Given the description of an element on the screen output the (x, y) to click on. 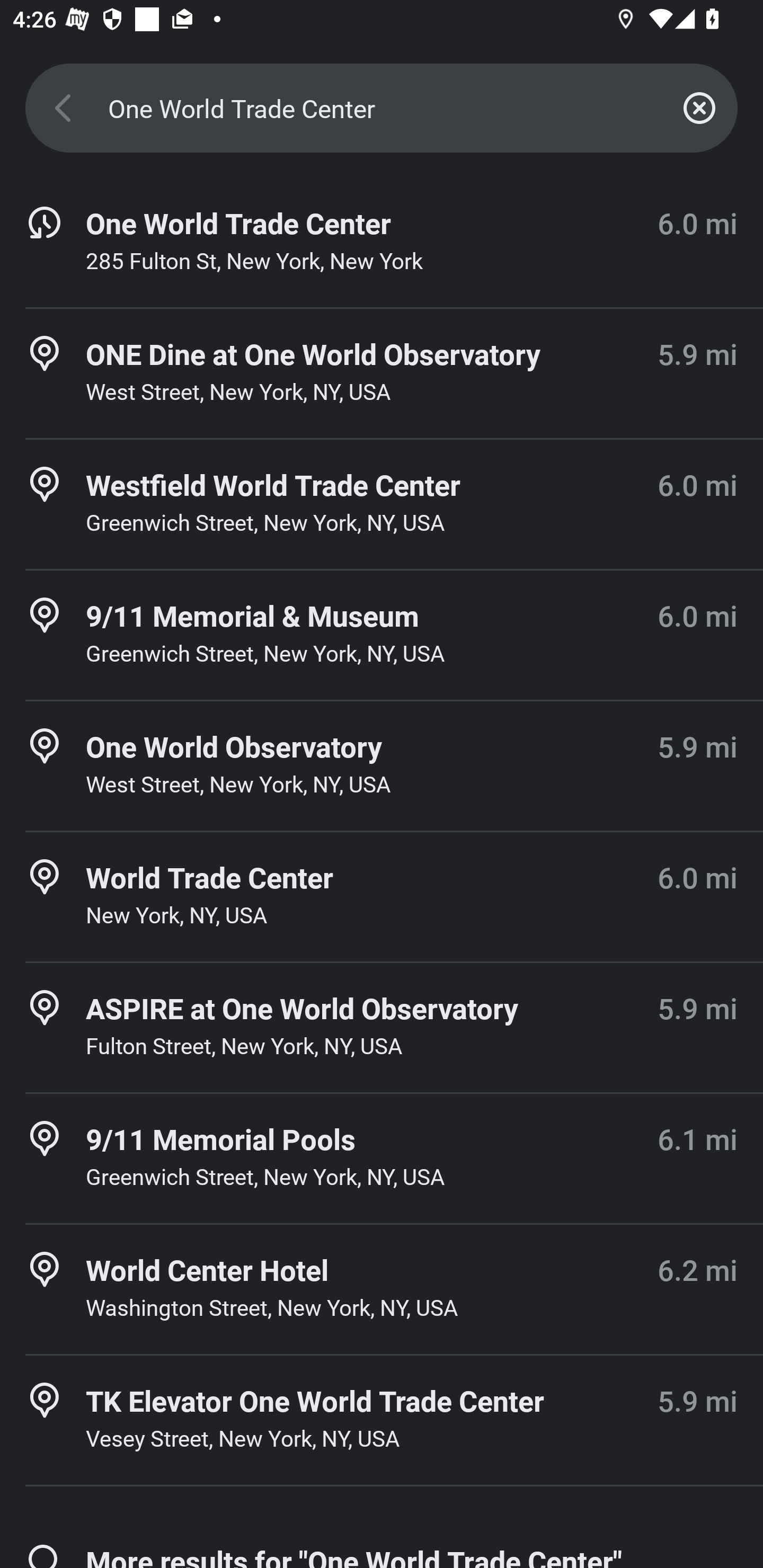
One World Trade Center SEARCH_SCREEN_SEARCH_FIELD (381, 108)
World Trade Center 6.0 mi New York, NY, USA (381, 896)
